Given the description of an element on the screen output the (x, y) to click on. 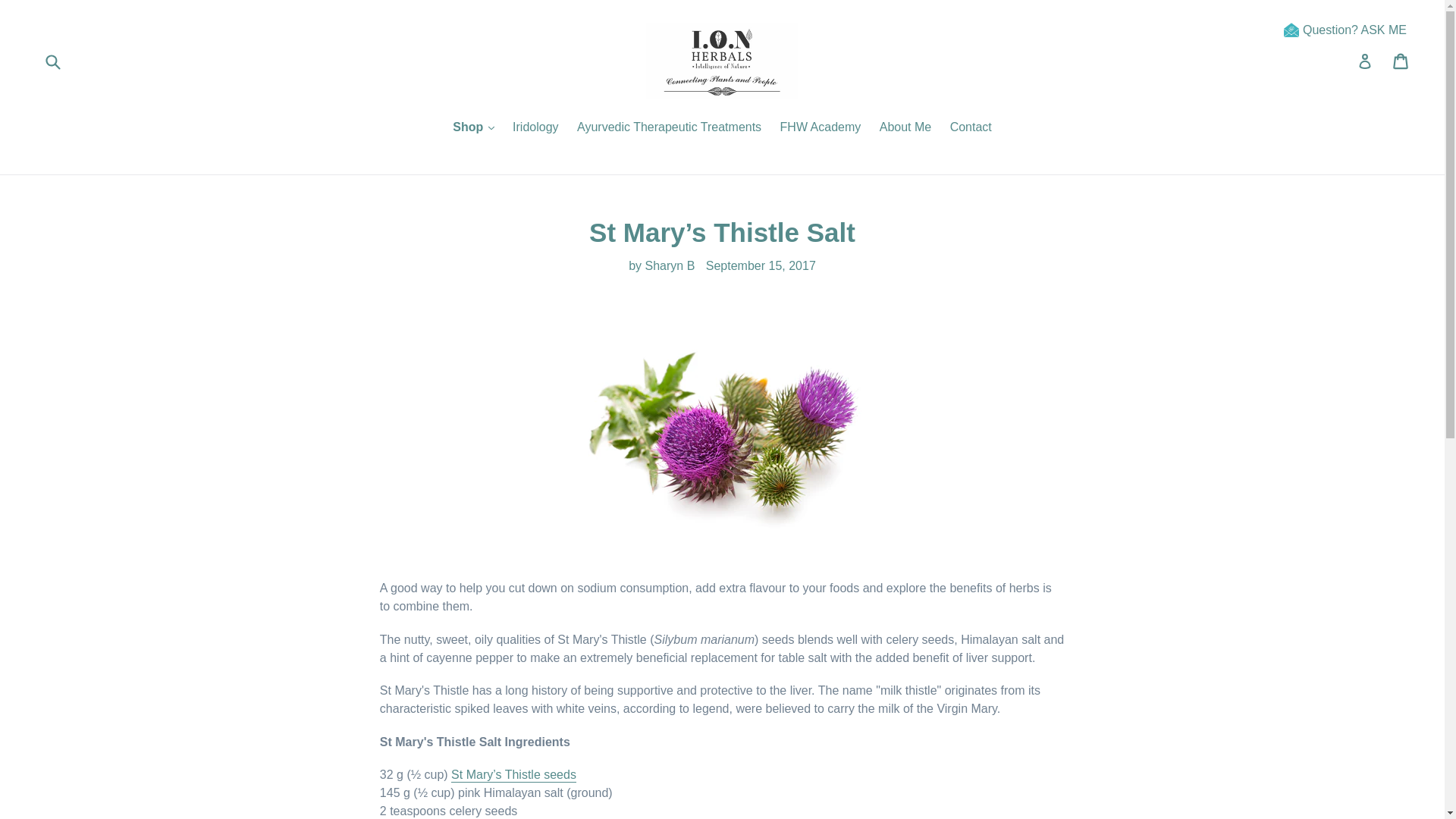
PURCHASE HERE (513, 775)
Ayurvedic Therapeutic Treatments (668, 127)
FHW Academy (821, 127)
Question? ASK ME (1354, 30)
Search (268, 60)
Contact (970, 127)
About Me (905, 127)
Iridology (535, 127)
